Given the description of an element on the screen output the (x, y) to click on. 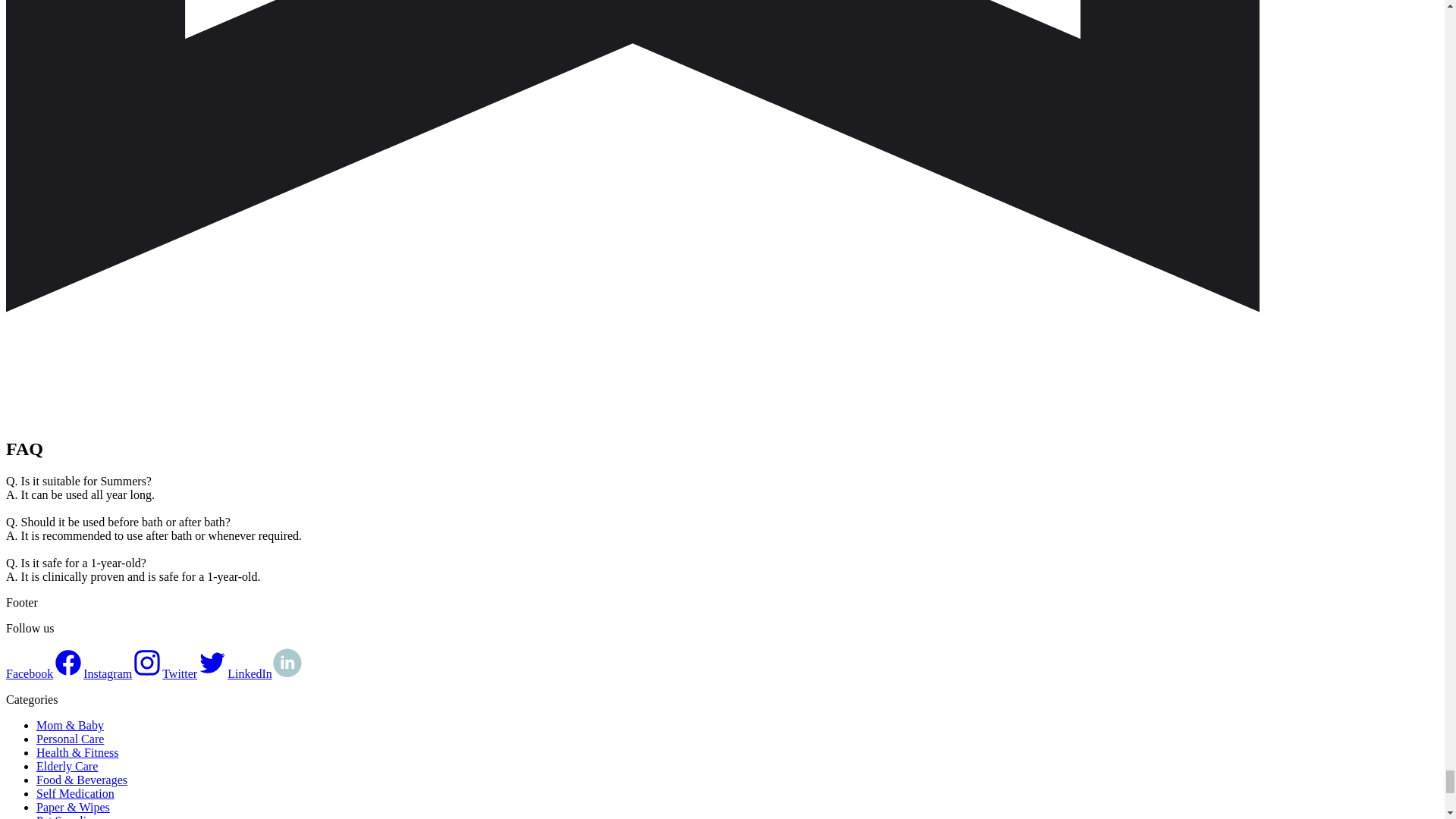
Instagram (121, 673)
Facebook (43, 673)
Twitter (194, 673)
